Given the description of an element on the screen output the (x, y) to click on. 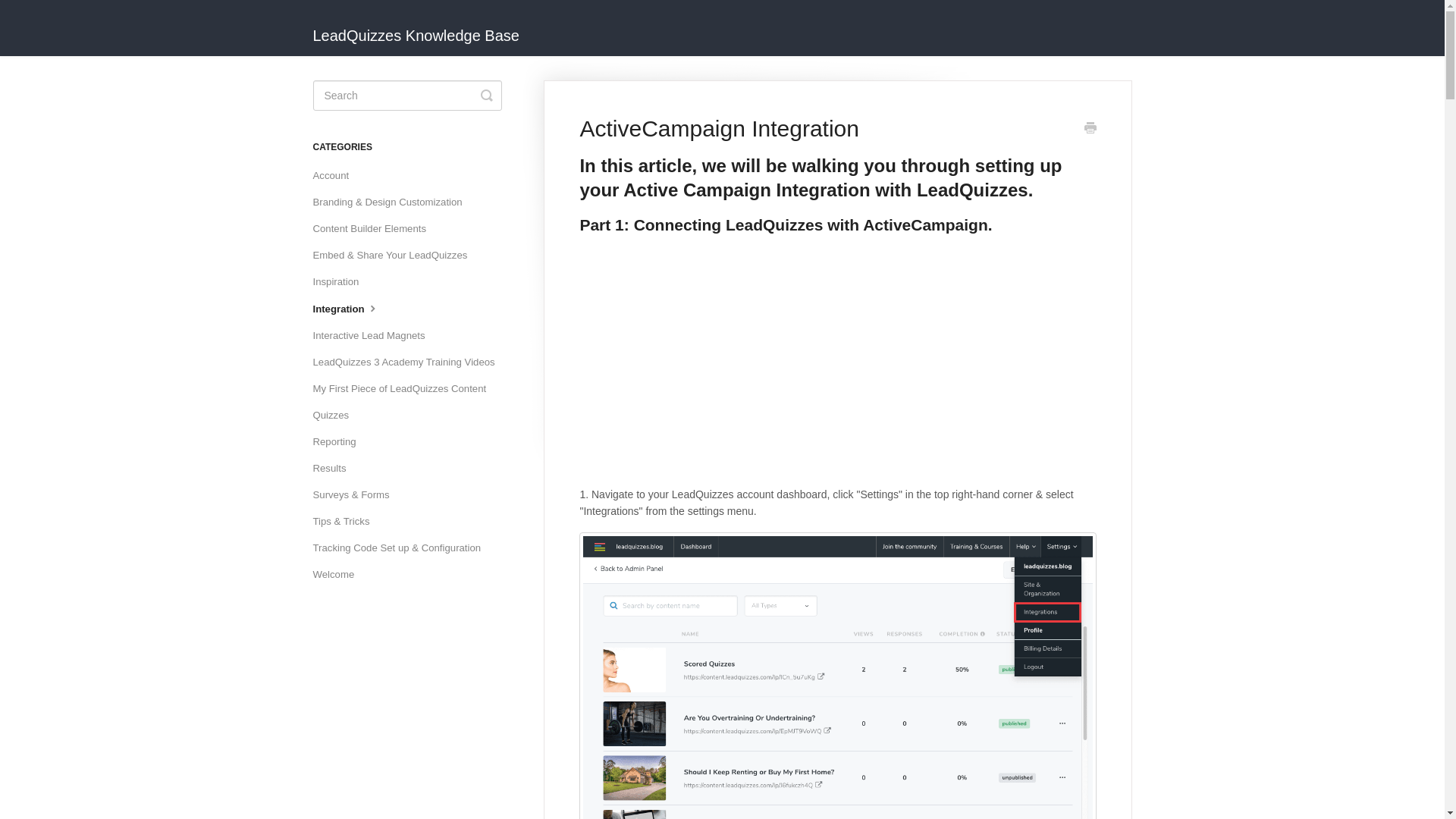
Content Builder Elements (375, 228)
Account (336, 175)
Quizzes (336, 415)
Welcome (339, 574)
Interactive Lead Magnets (374, 335)
search-query (406, 95)
YouTube video player (791, 364)
Reporting (339, 441)
Integration (352, 308)
LeadQuizzes 3 Academy Training Videos (409, 362)
LeadQuizzes Knowledge Base (423, 28)
Results (334, 468)
My First Piece of LeadQuizzes Content (405, 388)
Inspiration (341, 282)
